Given the description of an element on the screen output the (x, y) to click on. 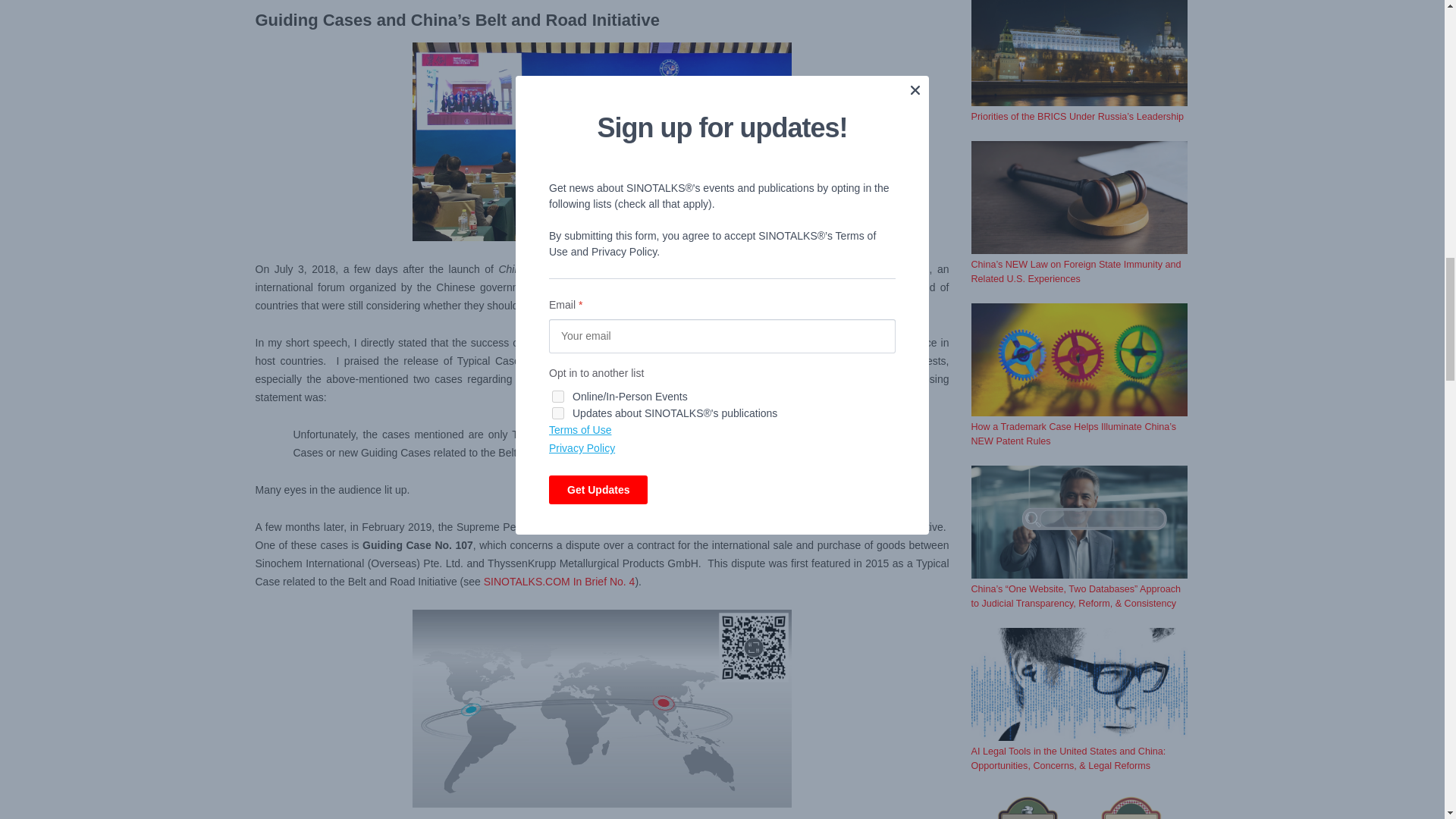
SINOTALKS.COM In Brief No. 4 (558, 581)
